Given the description of an element on the screen output the (x, y) to click on. 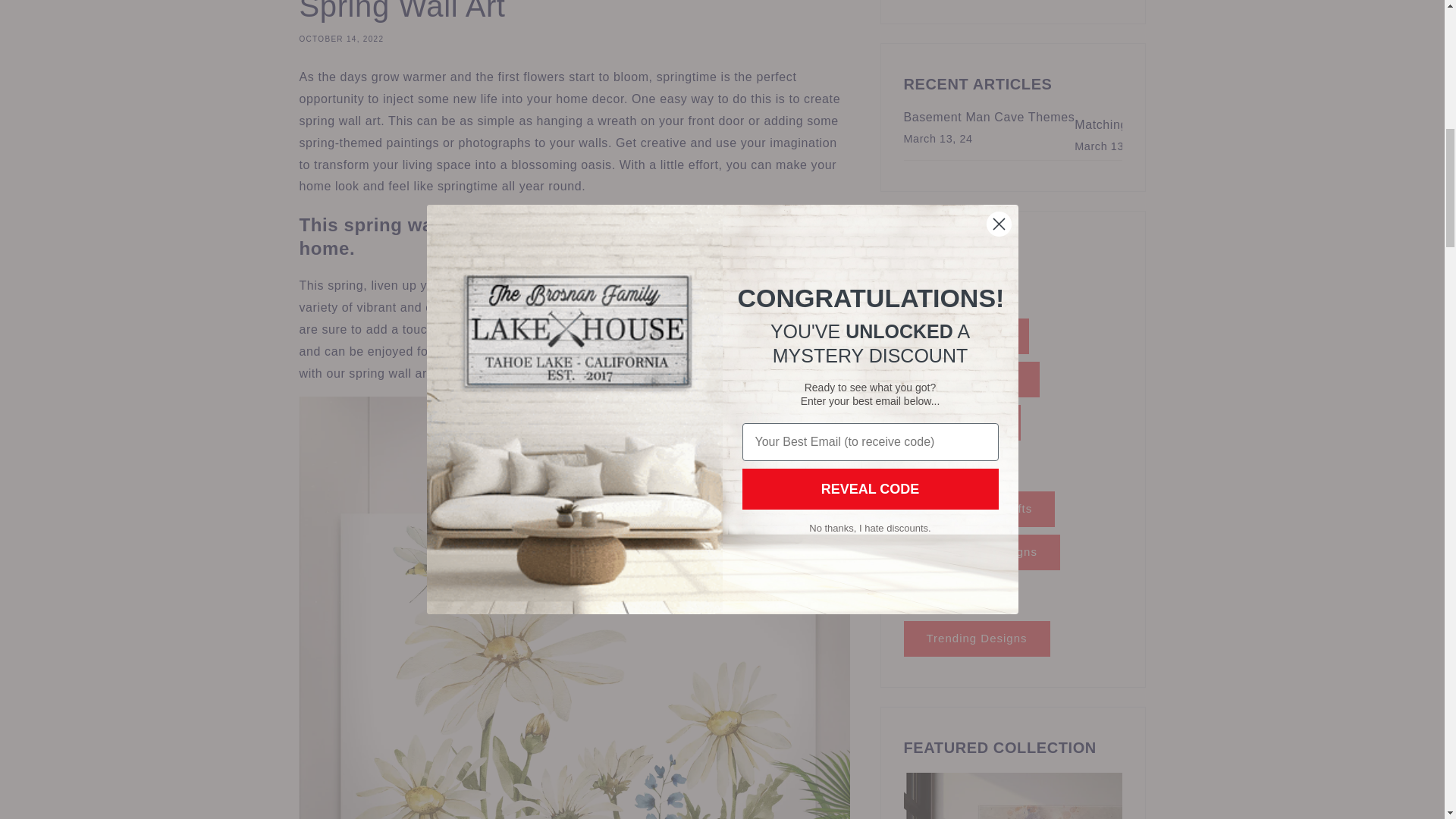
Basement Man Cave Themes (989, 117)
Matching bar furniture with home decor (1187, 125)
